Given the description of an element on the screen output the (x, y) to click on. 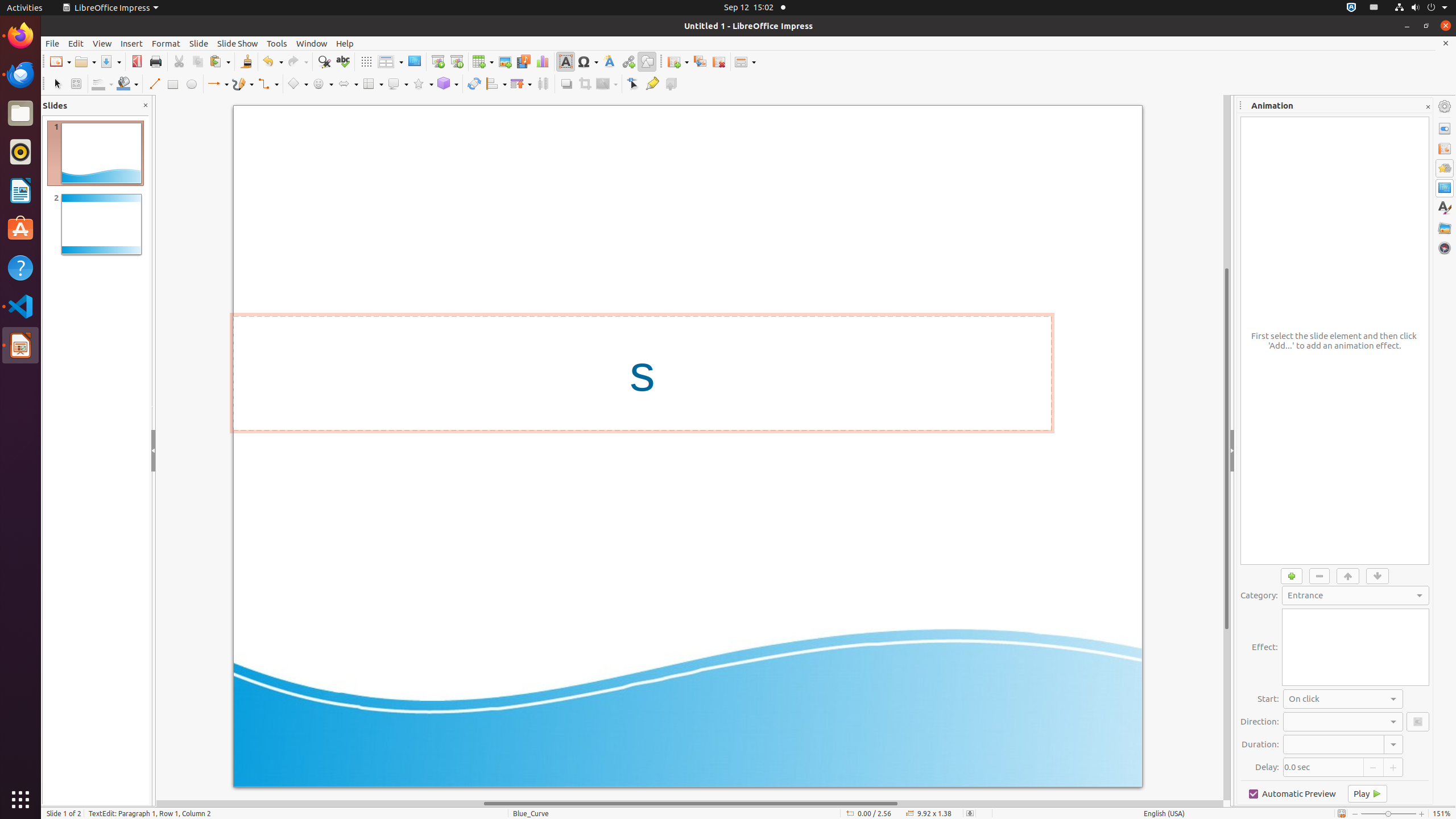
Rotate Element type: push-button (473, 83)
Ubuntu Software Element type: push-button (20, 229)
Redo Element type: push-button (296, 61)
Slide Element type: menu (198, 43)
Callout Shapes Element type: push-button (397, 83)
